Given the description of an element on the screen output the (x, y) to click on. 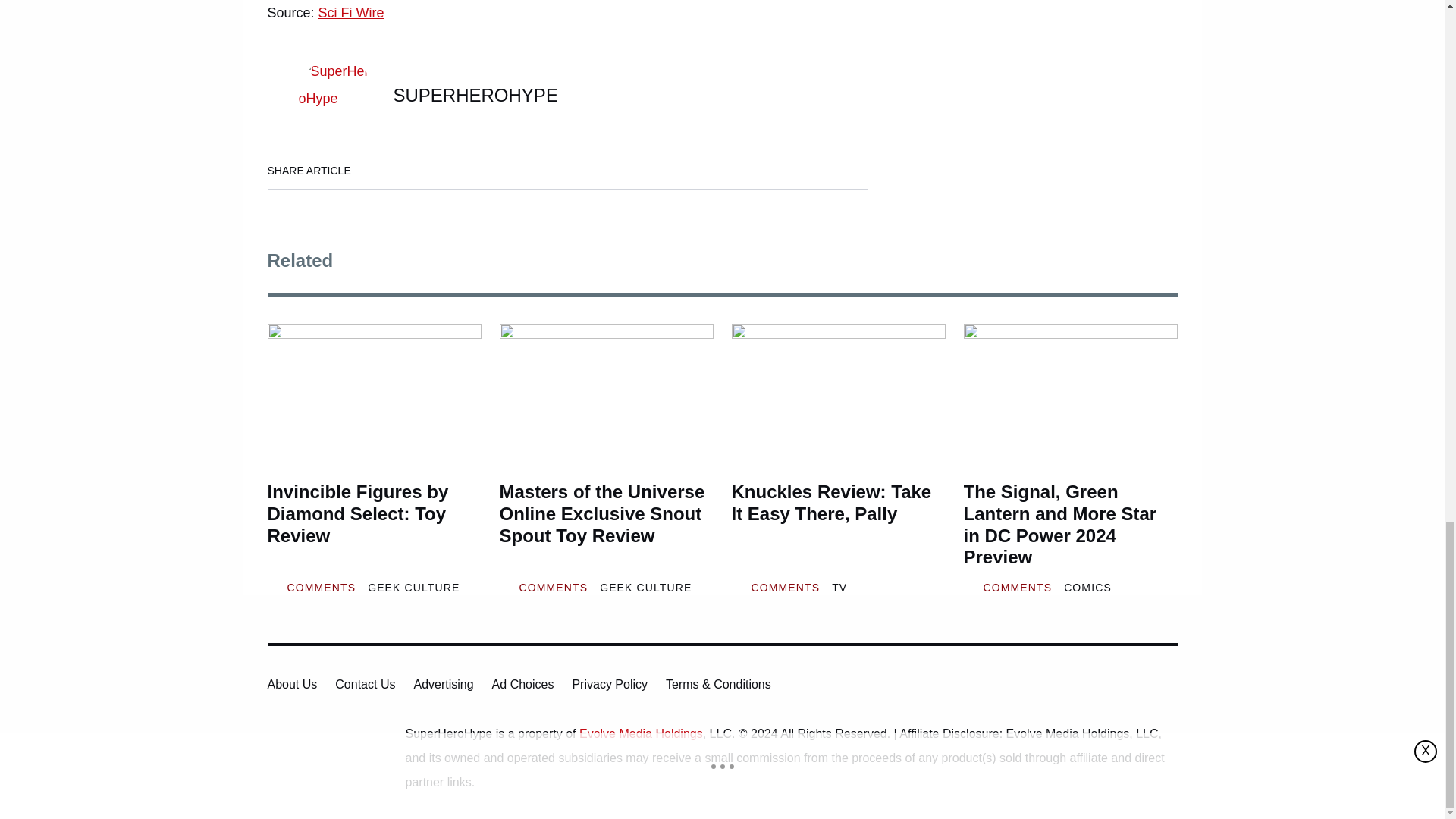
Twitter (463, 170)
LinkedIn (420, 170)
SUPERHEROHYPE (475, 95)
Sci Fi Wire (351, 12)
Pinterest (505, 170)
Invincible Figures by Diamond Select: Toy Review (373, 392)
Knuckles Review: Take It Easy There, Pally (837, 524)
Invincible Figures by Diamond Select: Toy Review (373, 524)
Knuckles Review: Take It Easy There, Pally (837, 392)
Facebook (377, 170)
